Given the description of an element on the screen output the (x, y) to click on. 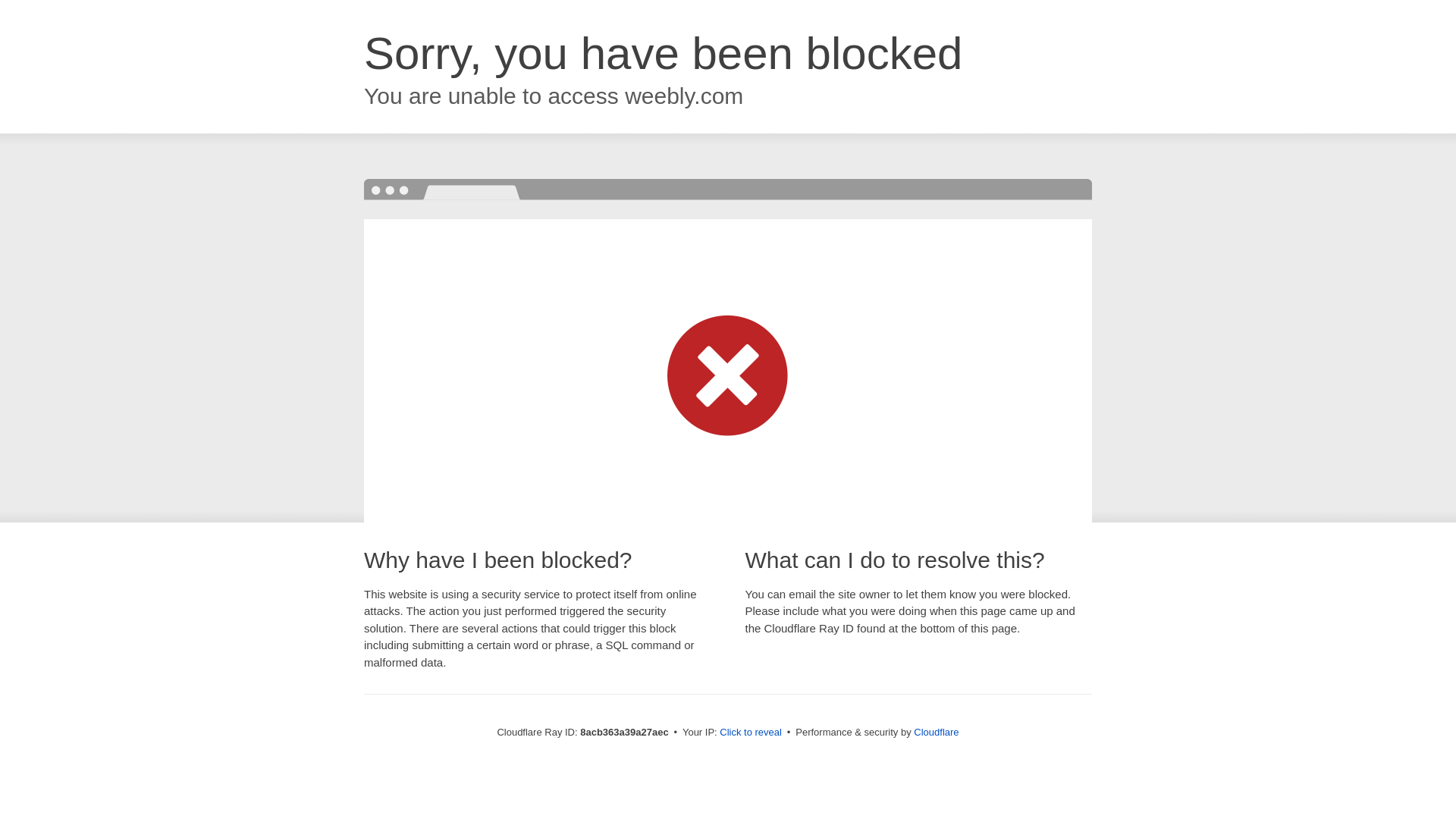
Click to reveal (750, 732)
Cloudflare (936, 731)
